Given the description of an element on the screen output the (x, y) to click on. 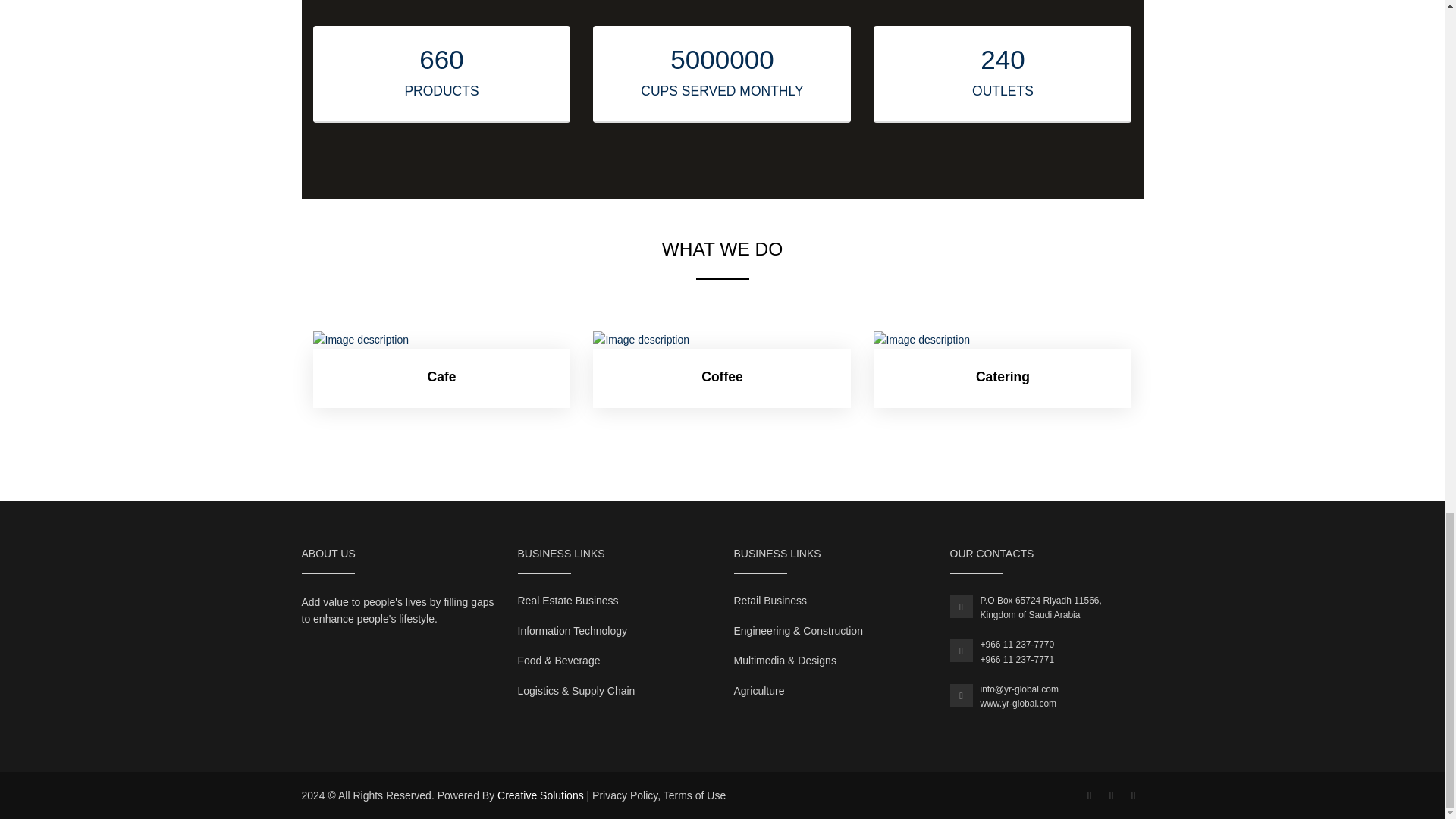
Information Technology (571, 630)
Retail Business (770, 600)
Real Estate Business (566, 600)
